Given the description of an element on the screen output the (x, y) to click on. 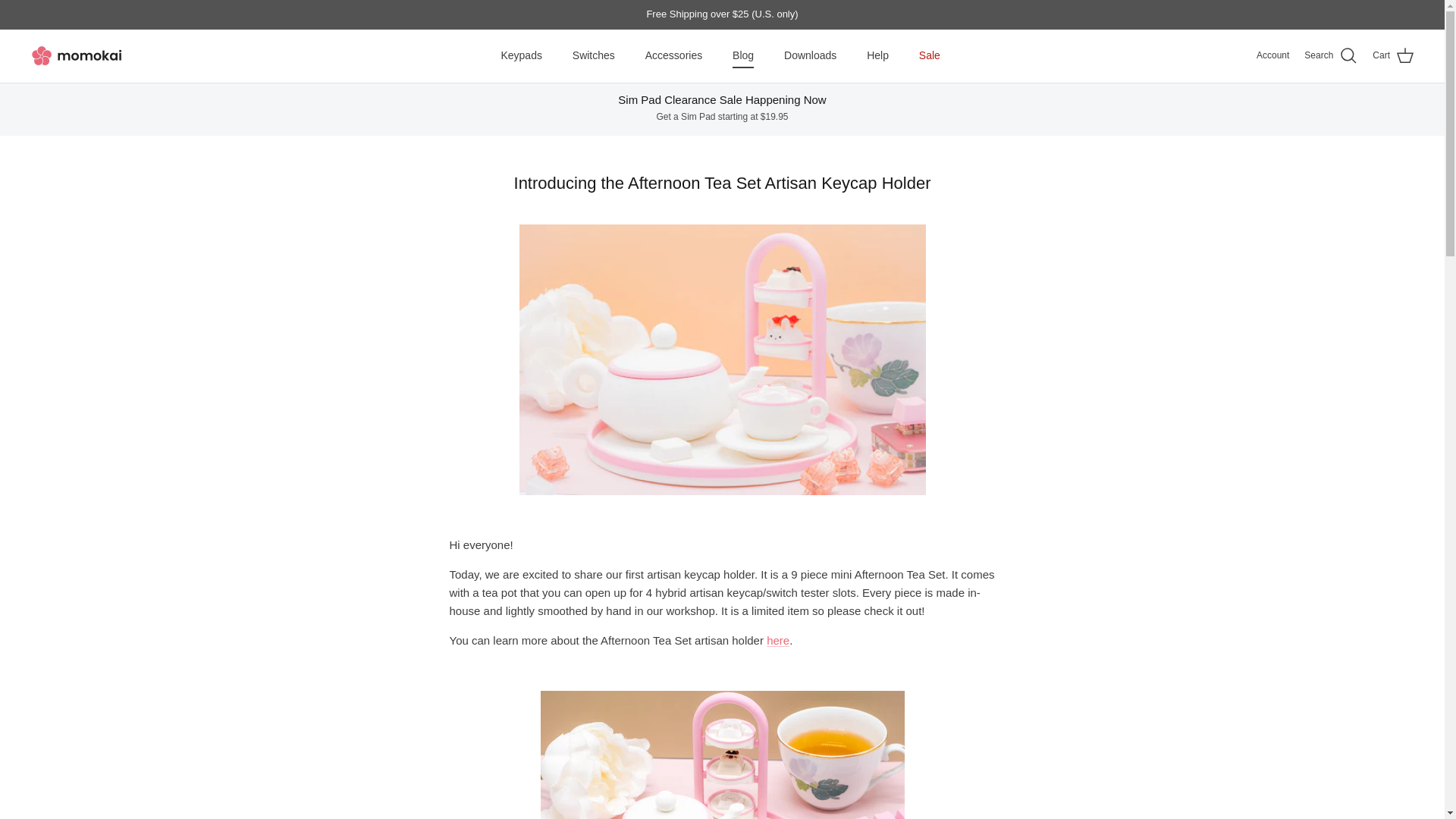
Help (877, 55)
Momokai (77, 56)
Sale (929, 55)
Blog (743, 55)
Cart (1393, 55)
Downloads (810, 55)
Switches (593, 55)
Account (1272, 55)
Search (1330, 55)
Keypads (520, 55)
